Given the description of an element on the screen output the (x, y) to click on. 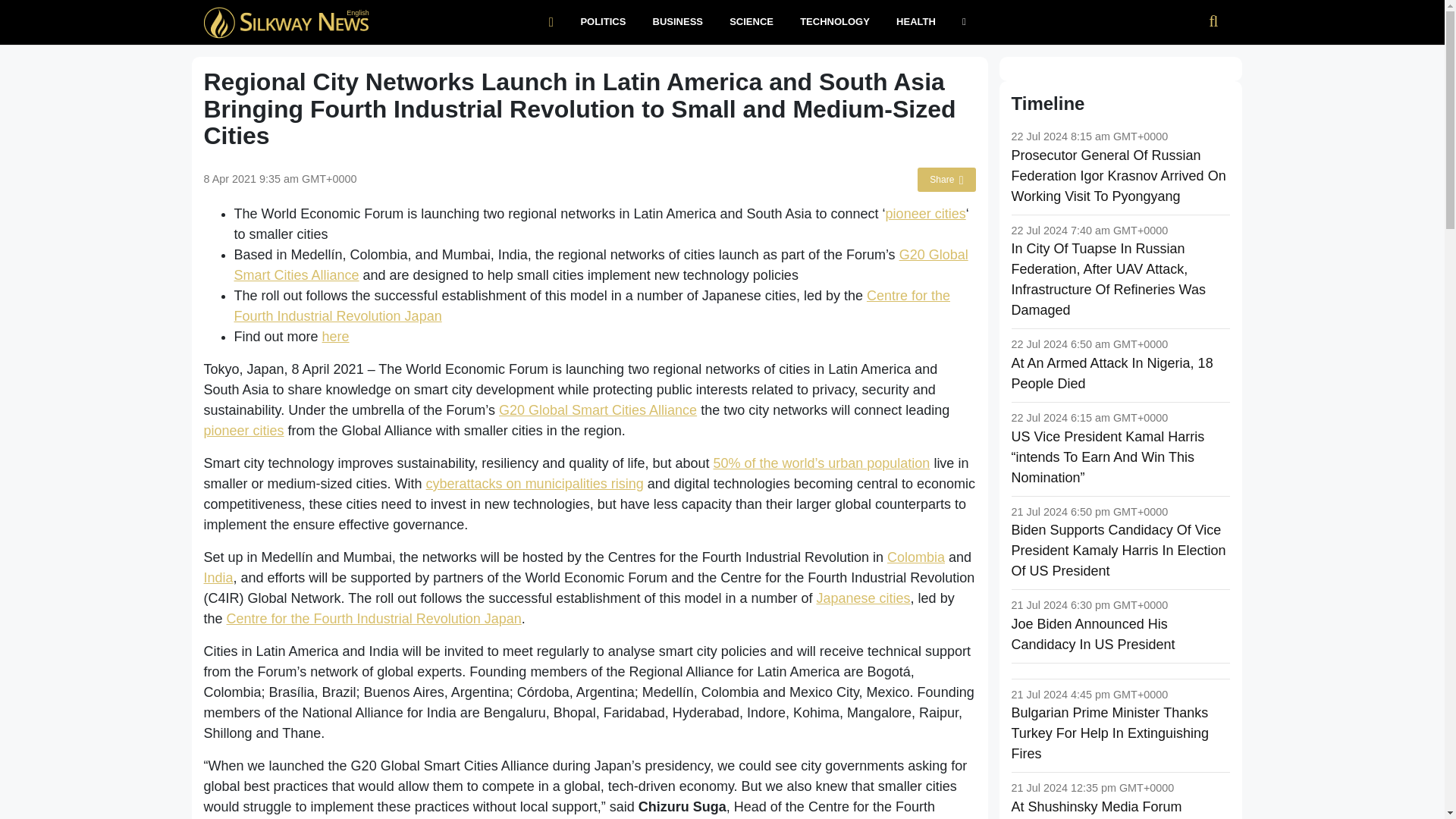
pioneer cities (925, 213)
pioneer cities (243, 430)
Centre for the Fourth Industrial Revolution Japan (591, 305)
SCIENCE (751, 22)
here (335, 336)
Colombia (915, 557)
BUSINESS (677, 22)
G20 Global Smart Cities Alliance (600, 264)
G20 Global Smart Cities Alliance (598, 409)
TECHNOLOGY (835, 22)
India (217, 577)
Japanese cities (863, 598)
cyberattacks on municipalities rising (534, 483)
